Given the description of an element on the screen output the (x, y) to click on. 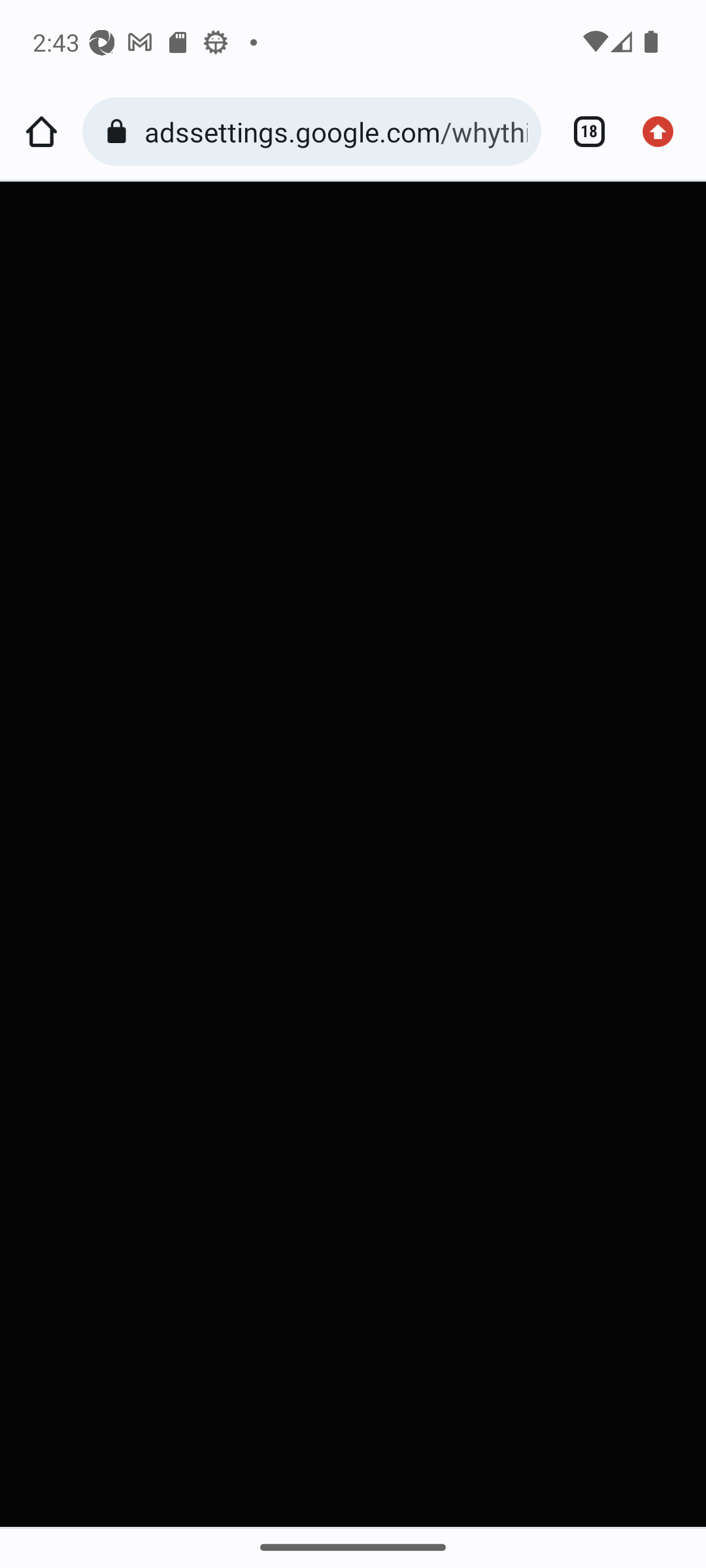
Home (41, 131)
Connection is secure (120, 131)
Switch or close tabs (582, 131)
Update available. More options (664, 131)
adssettings.google.com/whythisad (335, 131)
